Given the description of an element on the screen output the (x, y) to click on. 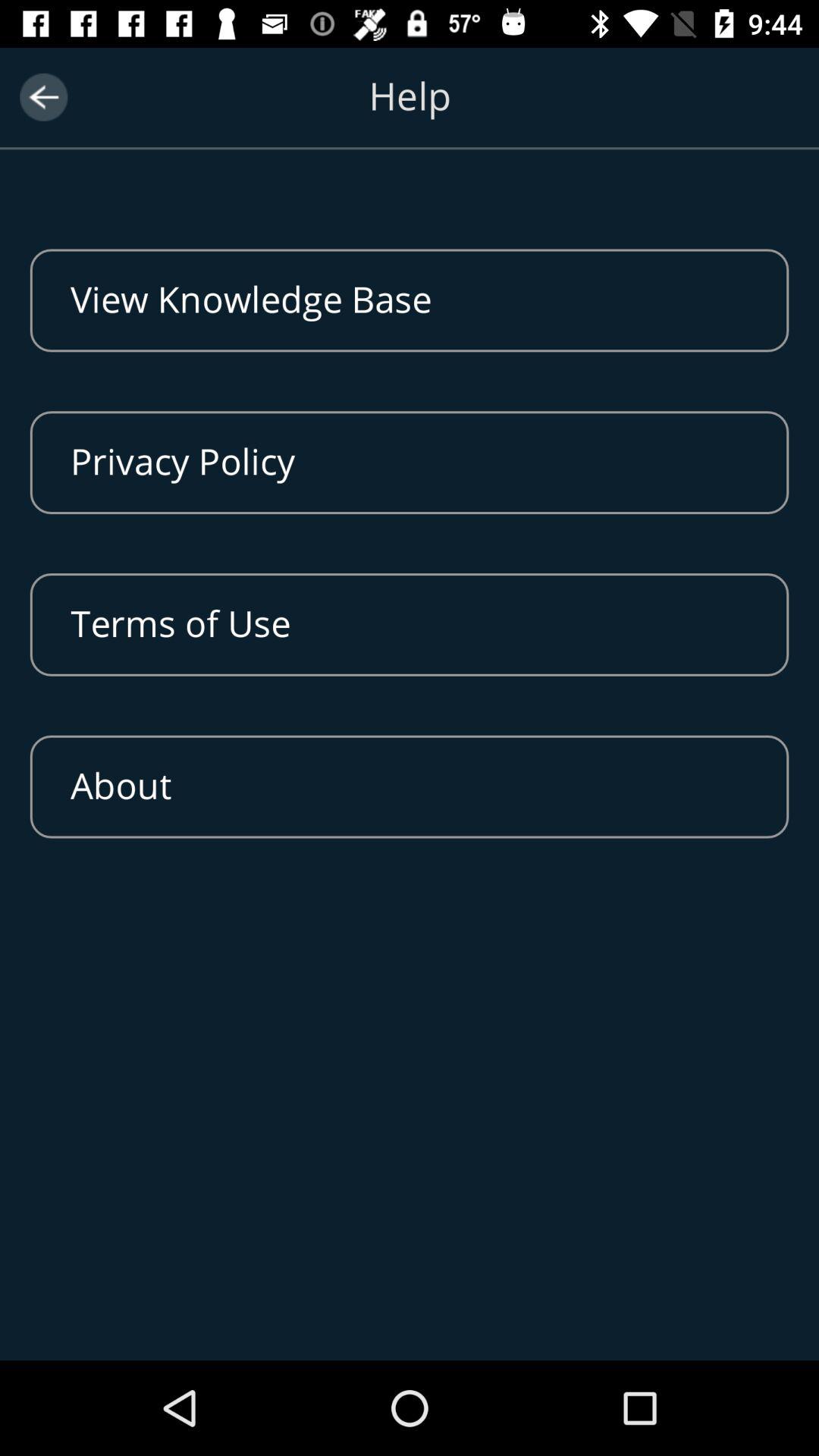
click help (409, 114)
click on about (409, 786)
goto second box from the top (409, 461)
select terms of use which is above about (409, 625)
